Given the description of an element on the screen output the (x, y) to click on. 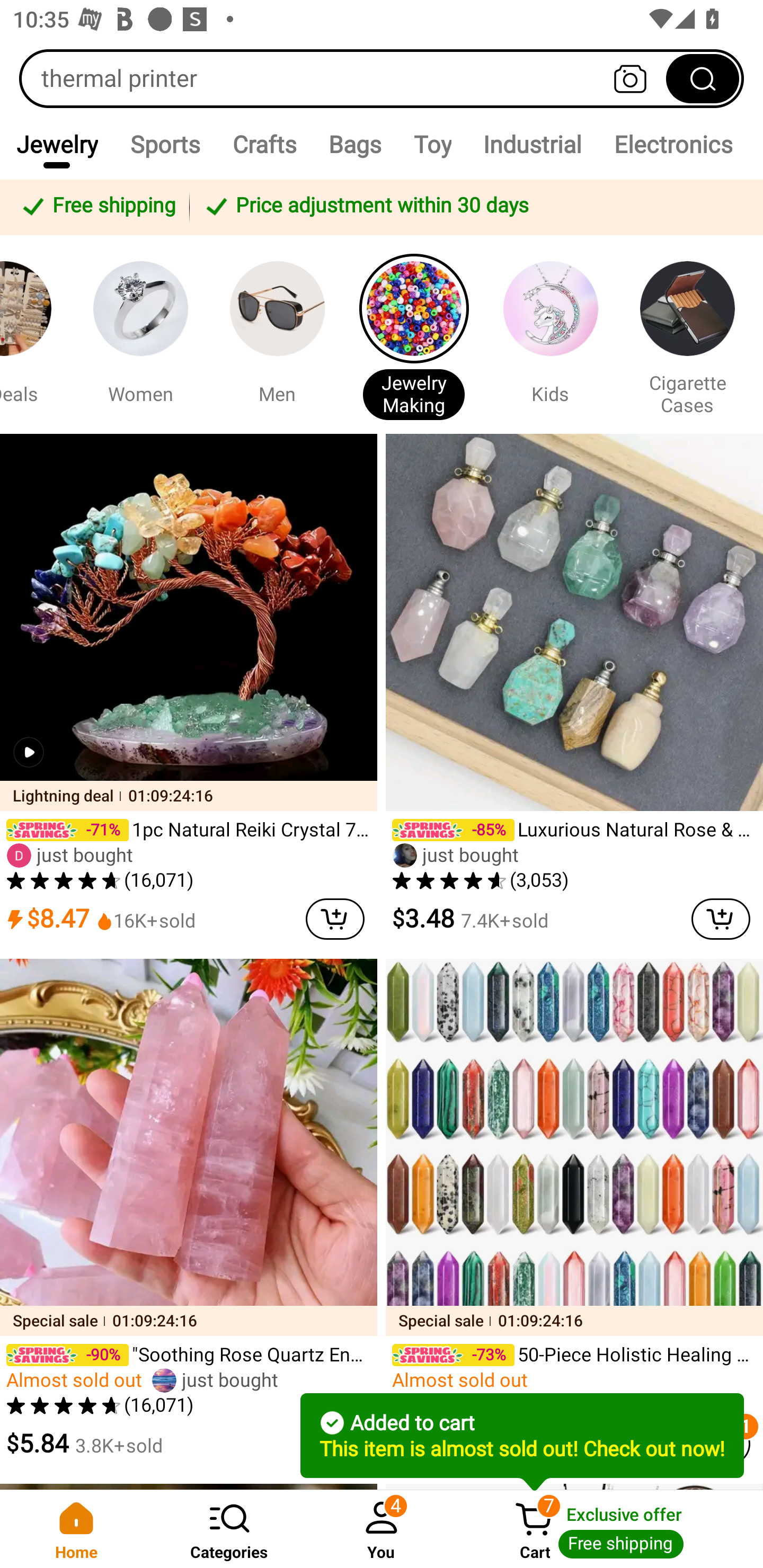
thermal printer (381, 78)
Jewelry (56, 144)
Sports (164, 144)
Crafts (263, 144)
Bags (354, 144)
Toy (431, 144)
Industrial (531, 144)
Electronics (672, 144)
Free shipping (97, 206)
Price adjustment within 30 days (472, 206)
Women (140, 333)
Men (276, 333)
Jewelry Making (413, 333)
Kids (550, 333)
Cigarette Cases (687, 333)
cart delete (334, 918)
cart delete (720, 918)
Home (76, 1528)
Categories (228, 1528)
You 4 You (381, 1528)
Cart 7 Cart Exclusive offer (610, 1528)
